Given the description of an element on the screen output the (x, y) to click on. 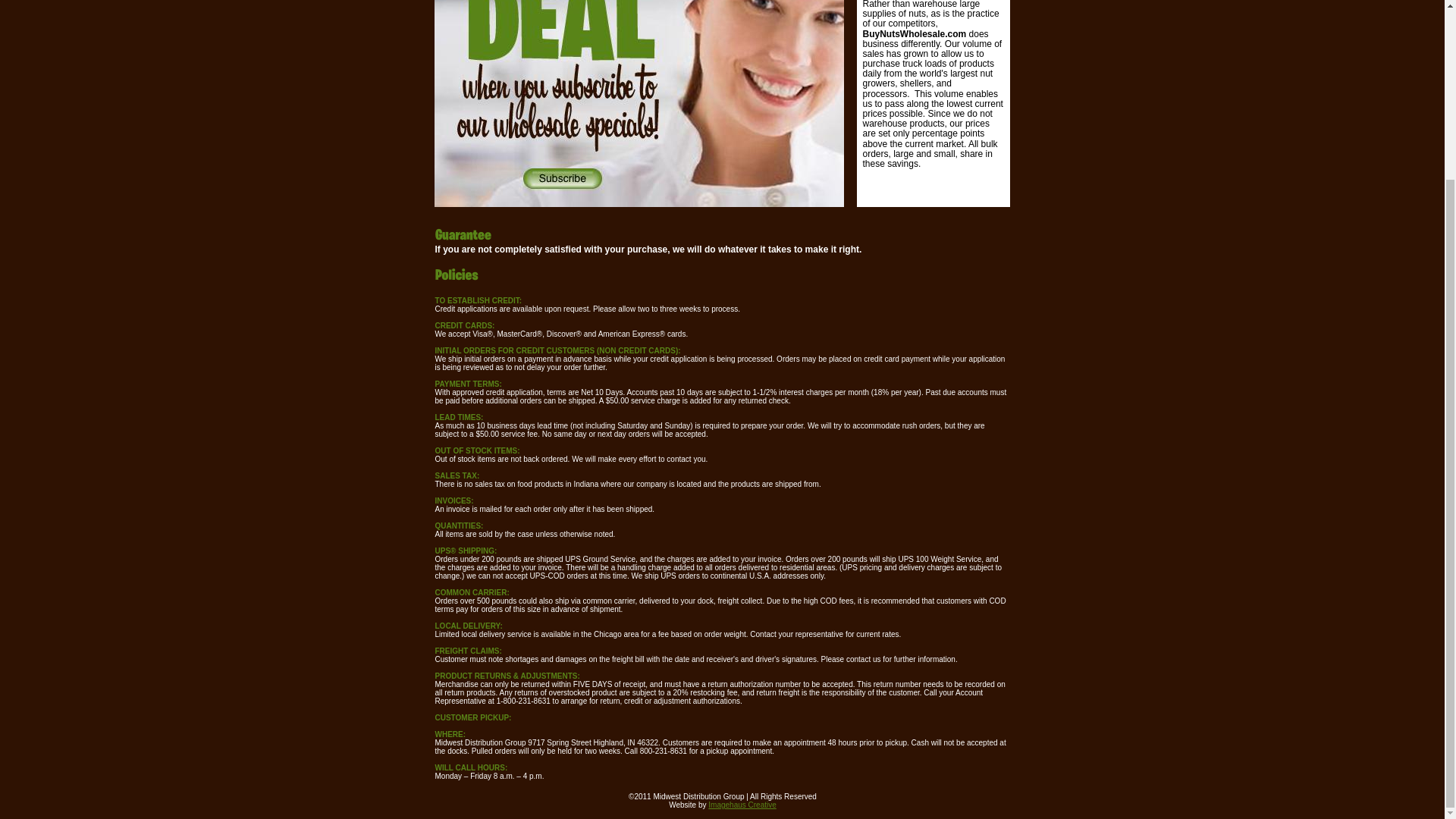
Imagehaus Creative (741, 804)
